Given the description of an element on the screen output the (x, y) to click on. 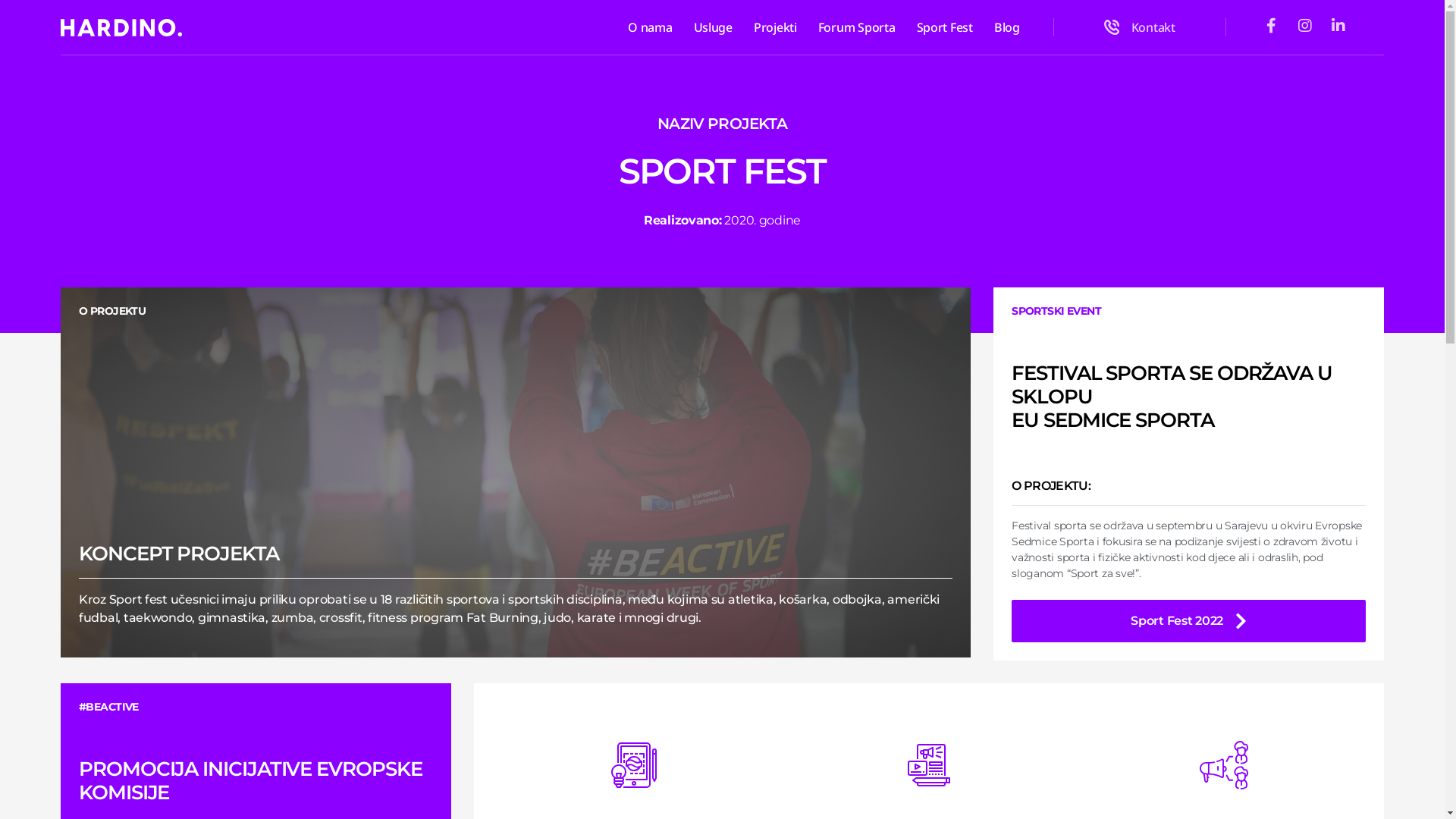
Usluge Element type: text (713, 26)
Projekti Element type: text (775, 26)
Blog Element type: text (1006, 26)
hardino-logo-new2 Element type: hover (121, 26)
Sport Fest 2022 Element type: text (1188, 620)
O nama Element type: text (649, 26)
Sport Fest Element type: text (944, 26)
Forum Sporta Element type: text (856, 26)
Kontakt Element type: text (1139, 26)
